Given the description of an element on the screen output the (x, y) to click on. 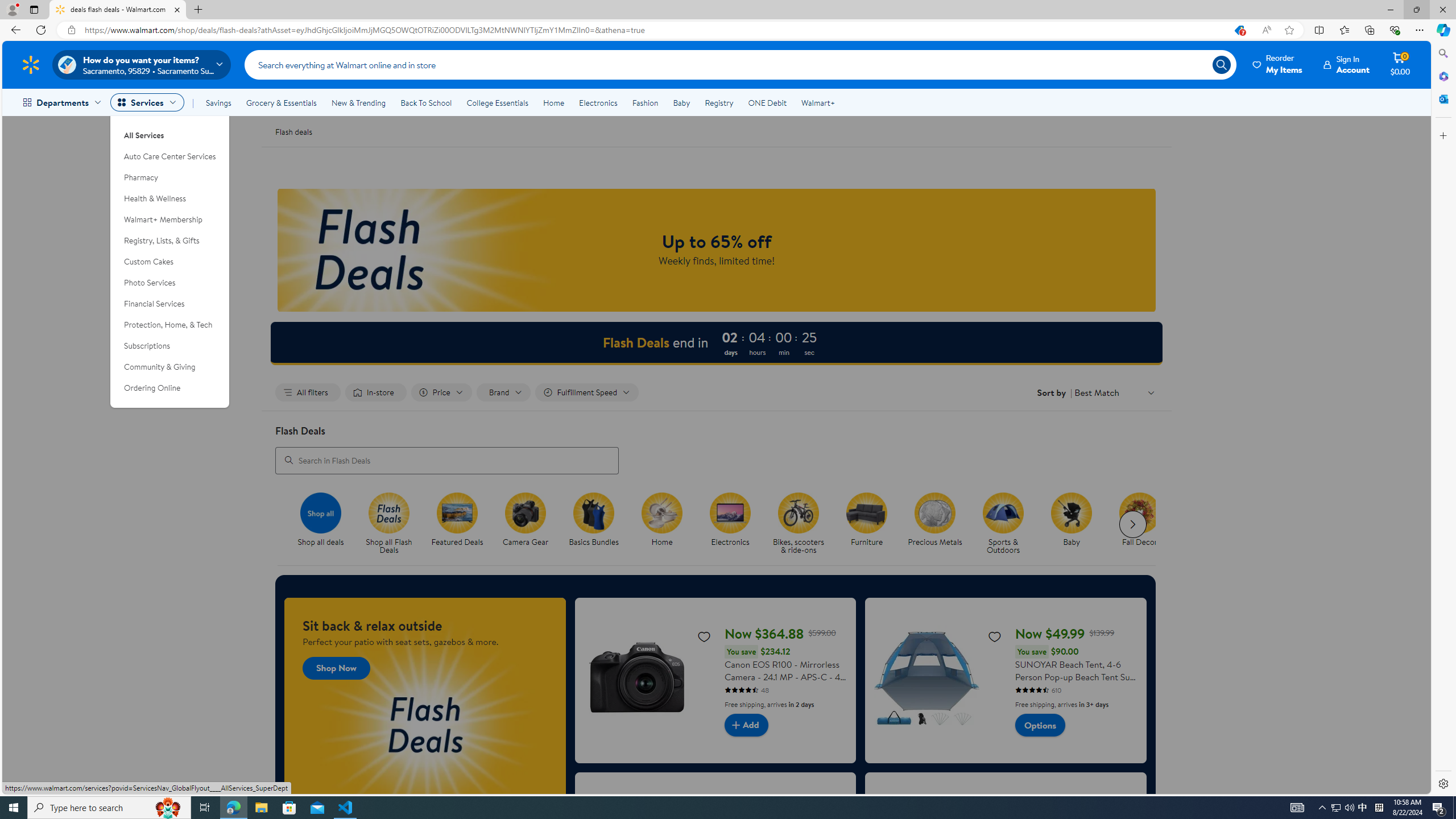
Walmart+ Membership (170, 219)
Fashion (644, 102)
Furniture (871, 524)
Flash Deals Shop all Flash Deals (389, 524)
deals flash deals - Walmart.com (117, 9)
Protection, Home, & Tech (170, 324)
College Essentials (496, 102)
All filters none applied, activate to change (307, 392)
Sports & Outdoors (1002, 512)
Flash Deals (388, 512)
Custom Cakes (170, 261)
